Given the description of an element on the screen output the (x, y) to click on. 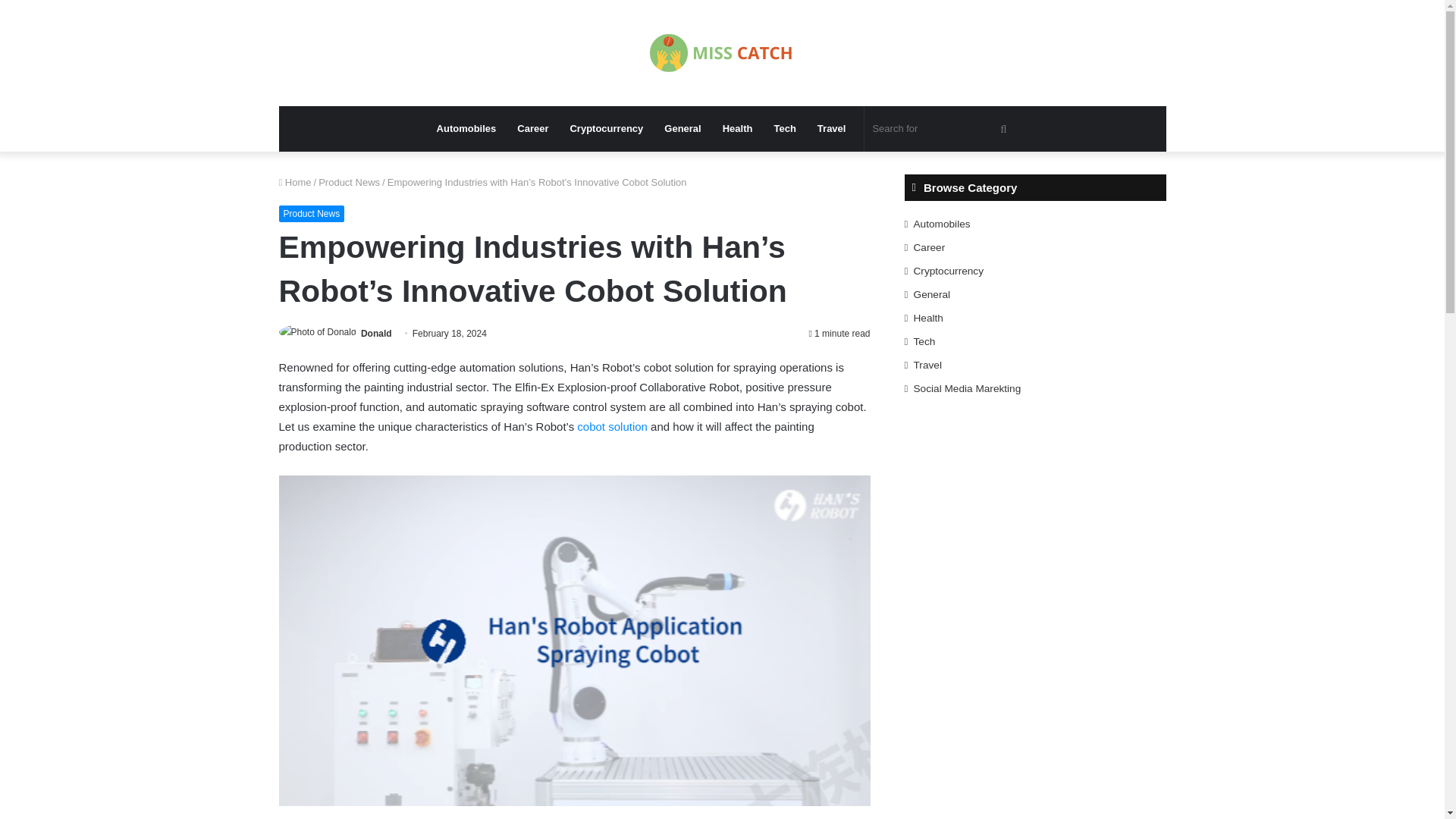
Cryptocurrency (606, 128)
Travel (831, 128)
Health (736, 128)
Home (295, 182)
cobot solution (611, 426)
Product News (349, 182)
Tech (784, 128)
Automobiles (466, 128)
General (682, 128)
Search for (940, 128)
Career (532, 128)
Miss Catch (721, 53)
Donald (376, 333)
Donald (376, 333)
Product News (312, 213)
